Given the description of an element on the screen output the (x, y) to click on. 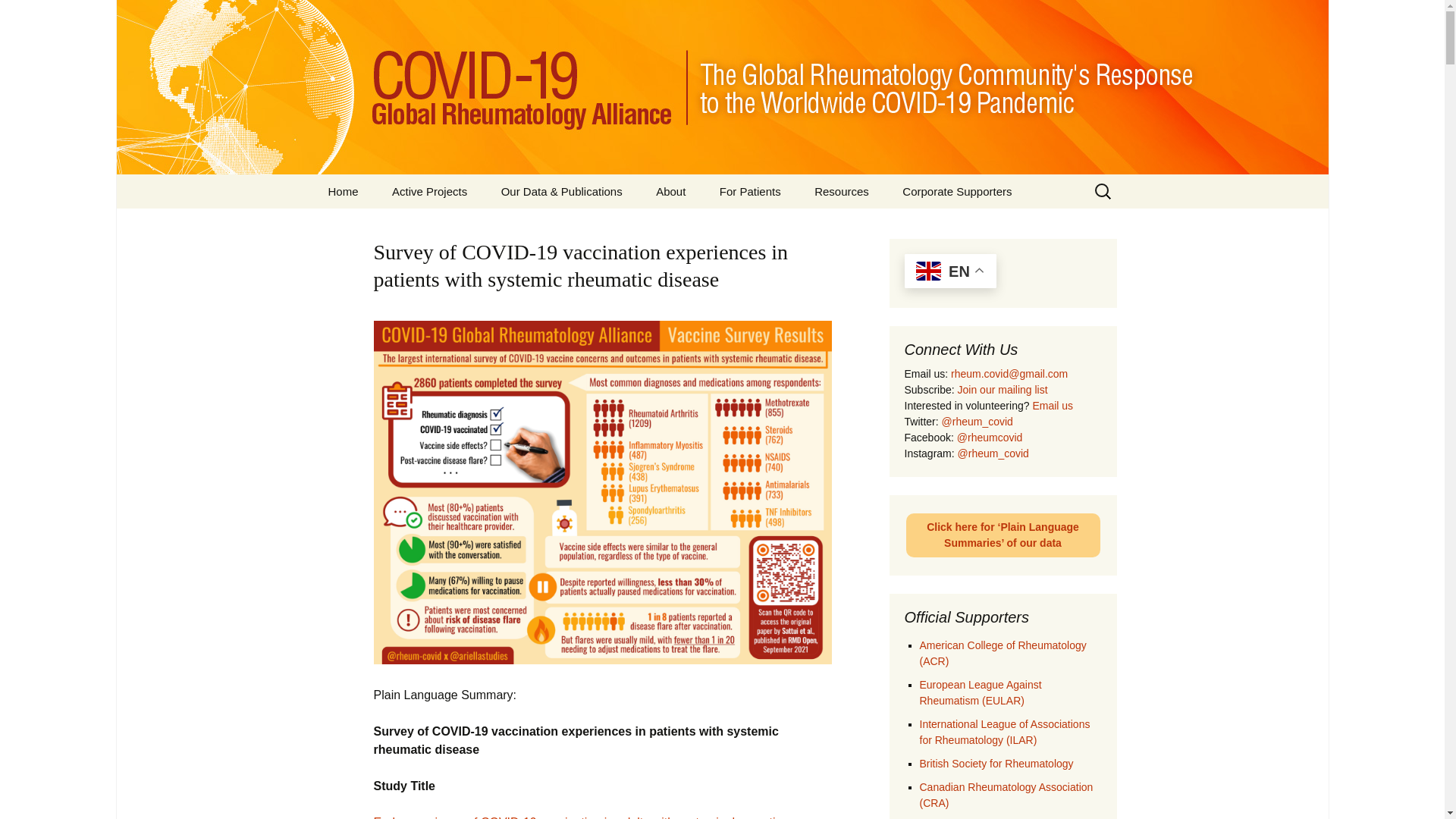
Home (342, 191)
Communications Toolkit (874, 225)
Corporate Supporters (956, 191)
For Patients (750, 191)
Resources (841, 191)
About (670, 191)
Take the 2023 COVID-19 GRA Pediatric Survey! (780, 236)
Publications by The COVID-19 Global Rheumatology Alliance (561, 236)
Active Projects (429, 191)
Search (18, 15)
New COVID-19 Pediatric Survey! (452, 230)
